Given the description of an element on the screen output the (x, y) to click on. 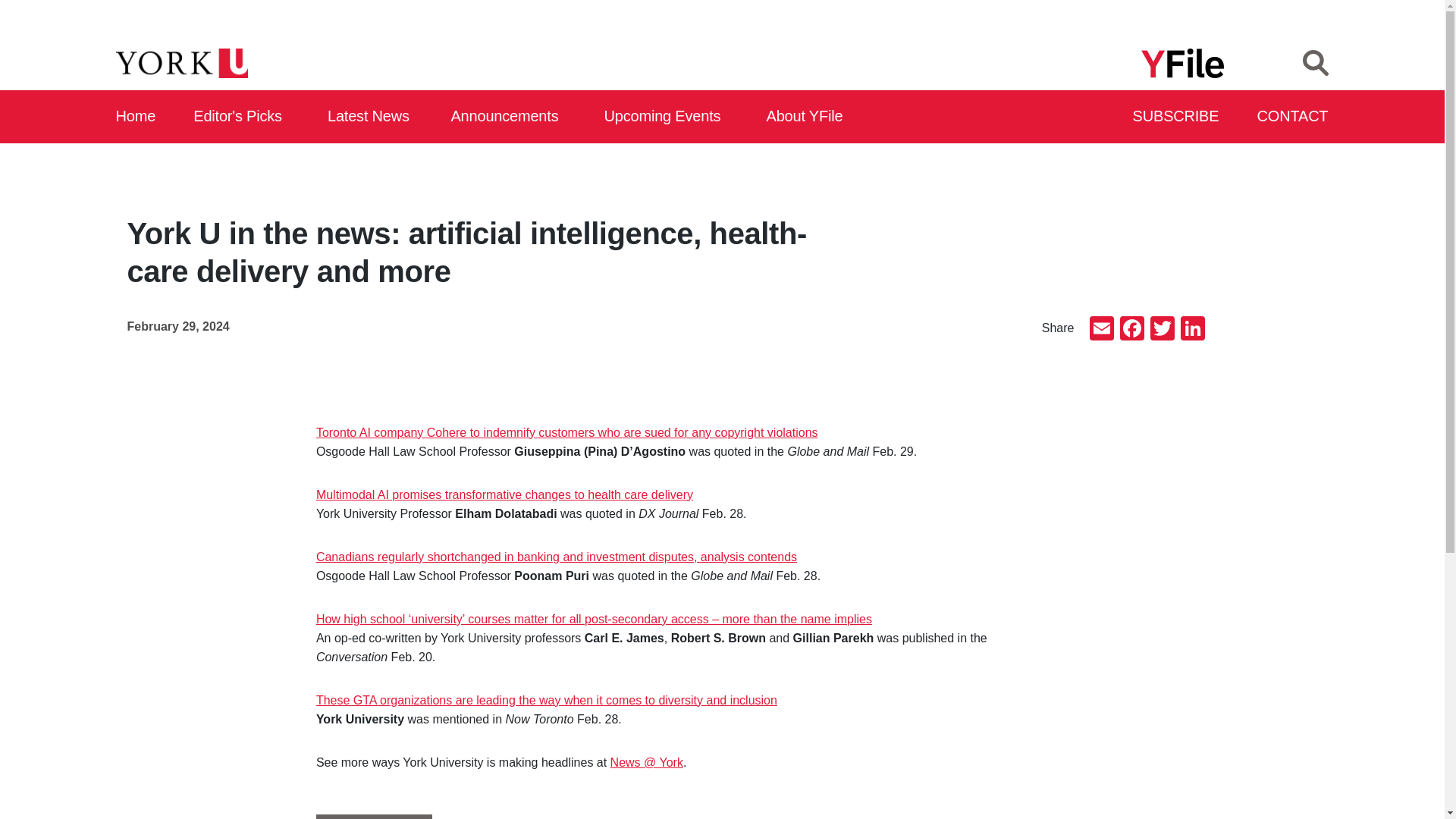
Home (136, 116)
LinkedIn (1191, 329)
Announcements (508, 116)
Email (1101, 329)
About YFile (806, 116)
Upcoming Events (667, 116)
LinkedIn (1191, 329)
Contact (1293, 116)
Editor's Picks (242, 116)
Subscribe (1176, 116)
Email (1101, 329)
Latest News (370, 116)
About YFile (806, 116)
Facebook (1131, 329)
